Given the description of an element on the screen output the (x, y) to click on. 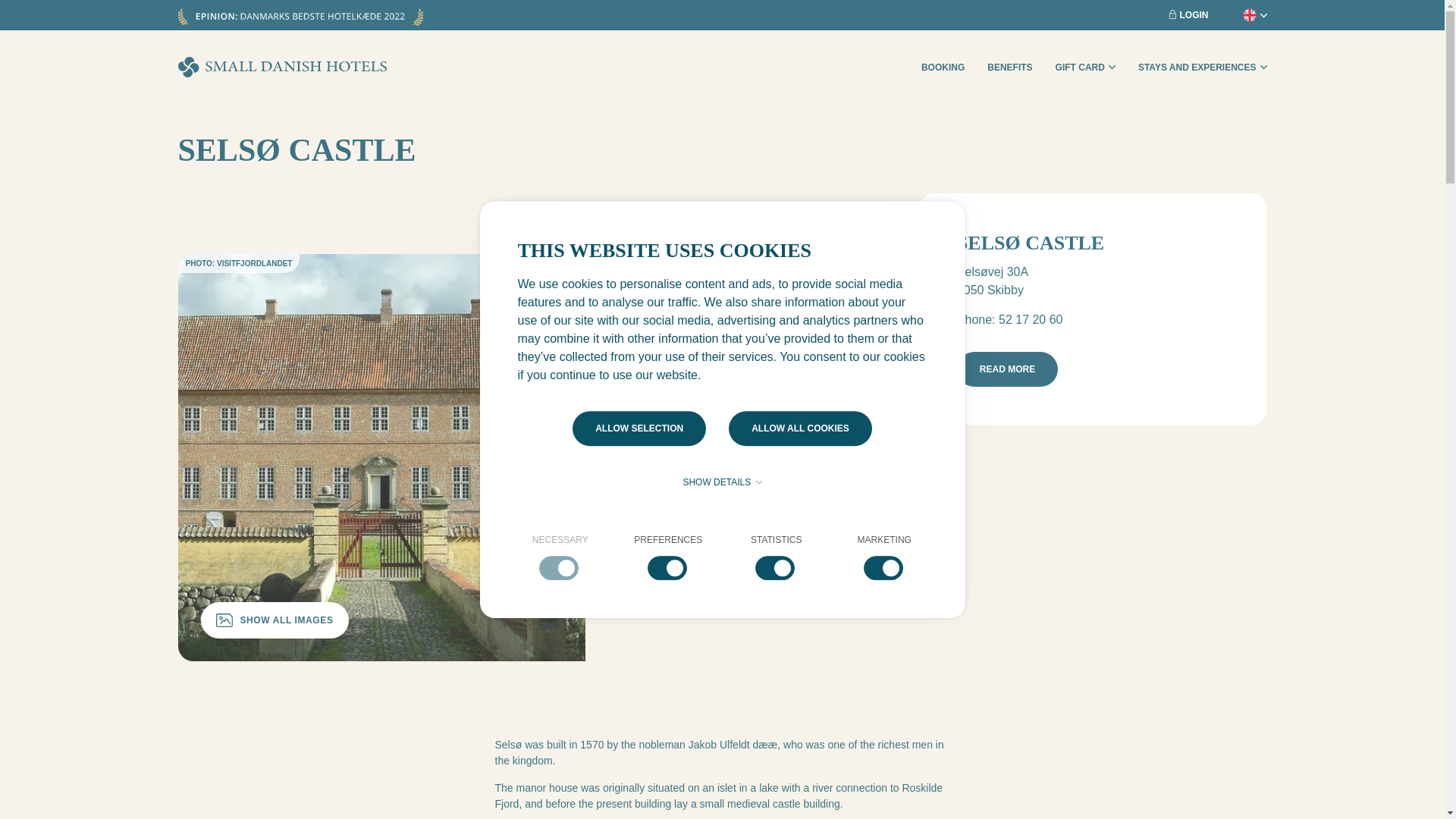
ALLOW SELECTION (639, 428)
ALLOW ALL COOKIES (800, 428)
SHOW DETAILS (720, 481)
